Given the description of an element on the screen output the (x, y) to click on. 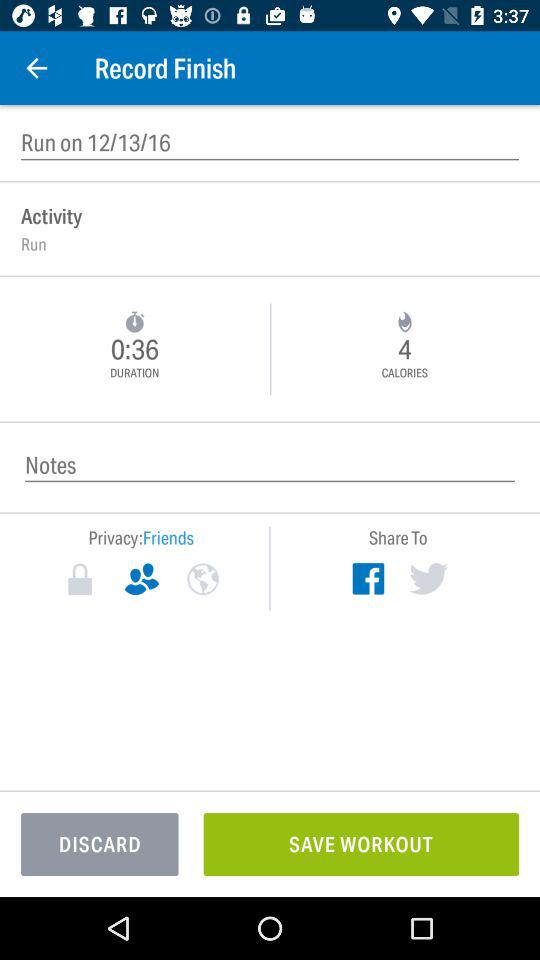
share on twitter (428, 578)
